Given the description of an element on the screen output the (x, y) to click on. 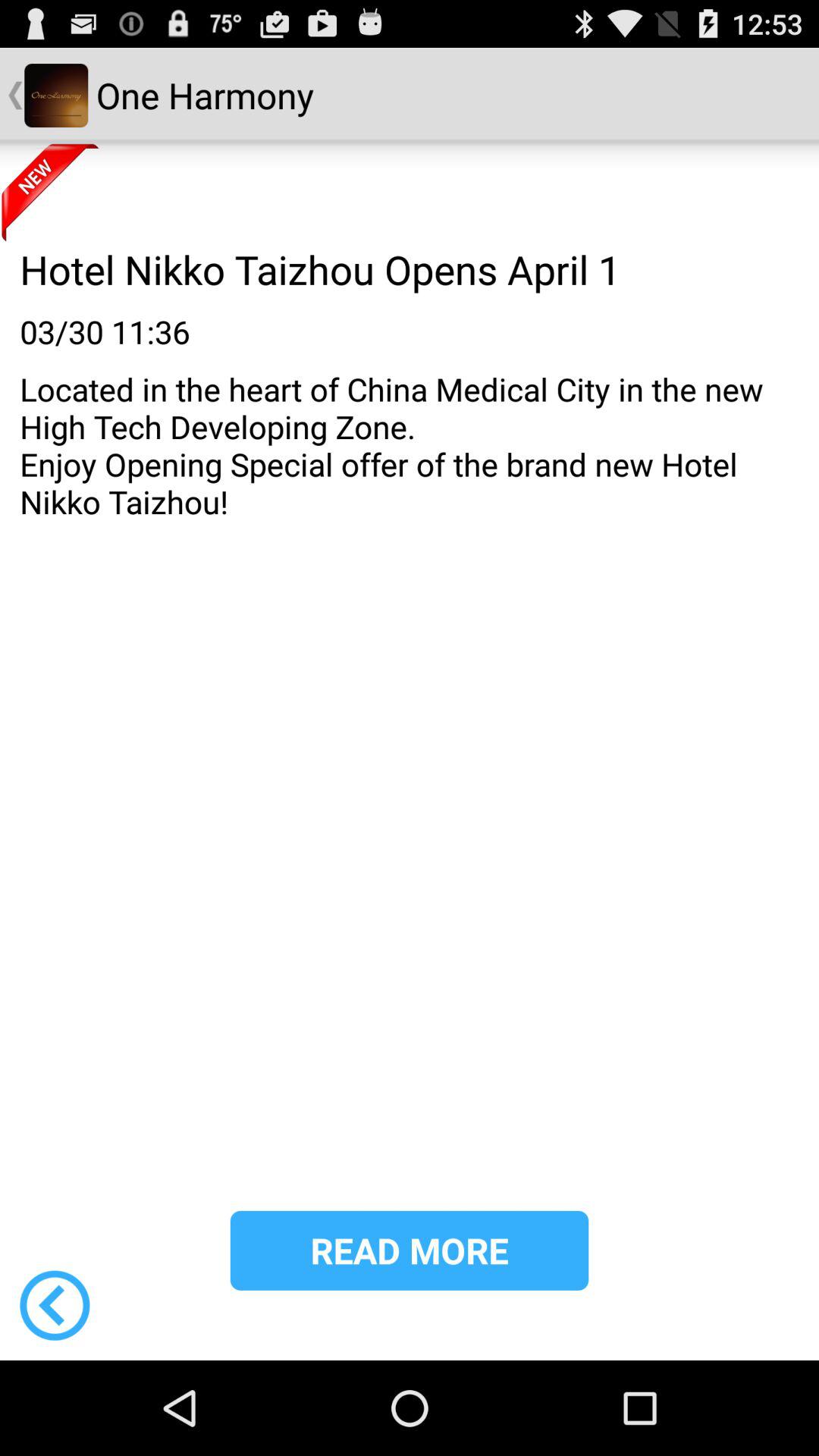
open the read more icon (409, 1250)
